Given the description of an element on the screen output the (x, y) to click on. 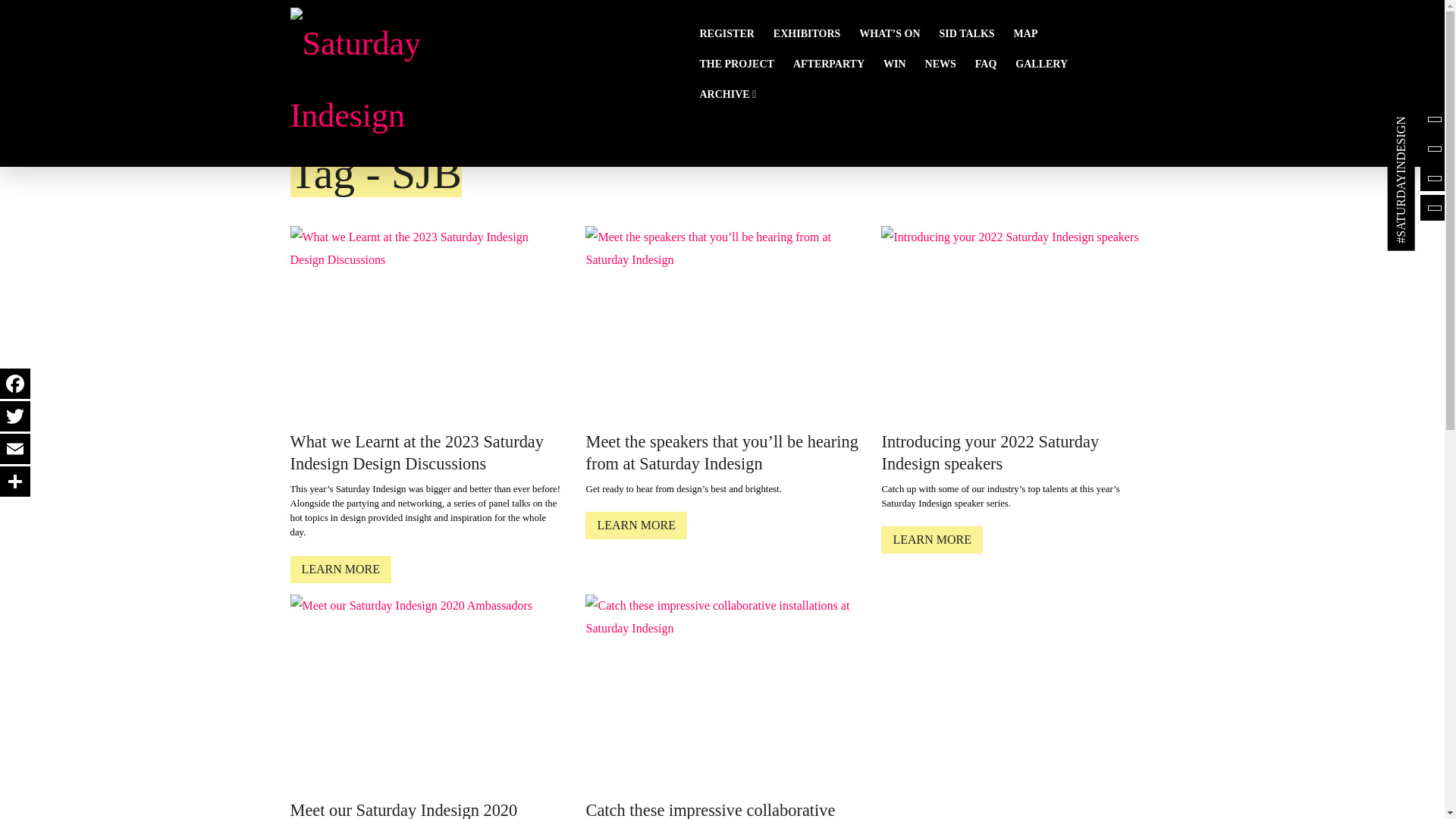
GALLERY (1050, 64)
THE PROJECT (745, 64)
NEWS (949, 64)
EXHIBITORS (816, 33)
Saturday Indesign (357, 79)
WIN (903, 64)
The Project (745, 64)
Exhibitors (816, 33)
News (949, 64)
SID Talks (976, 33)
